Given the description of an element on the screen output the (x, y) to click on. 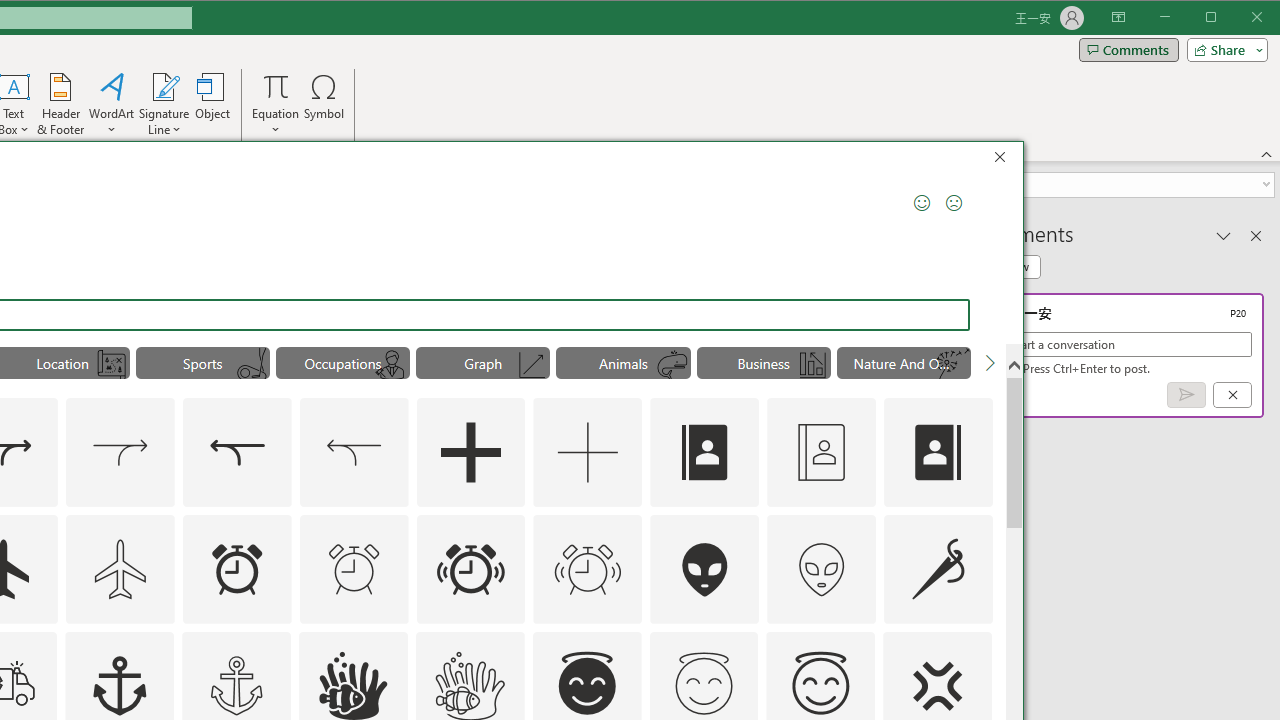
AutomationID: Icons_AlarmClock (236, 568)
AutomationID: Icons_Airplane_M (120, 568)
AutomationID: Icons_BarGraphUpwardTrend_RTL_M (812, 365)
AutomationID: Icons_AlienFace_M (821, 568)
AutomationID: Icons_Add_M (587, 452)
Send a Smile (922, 202)
Post comment (Ctrl + Enter) (1186, 395)
AutomationID: Icons_Acquisition_RTL_M (353, 452)
"Sports" Icons. (202, 362)
